Given the description of an element on the screen output the (x, y) to click on. 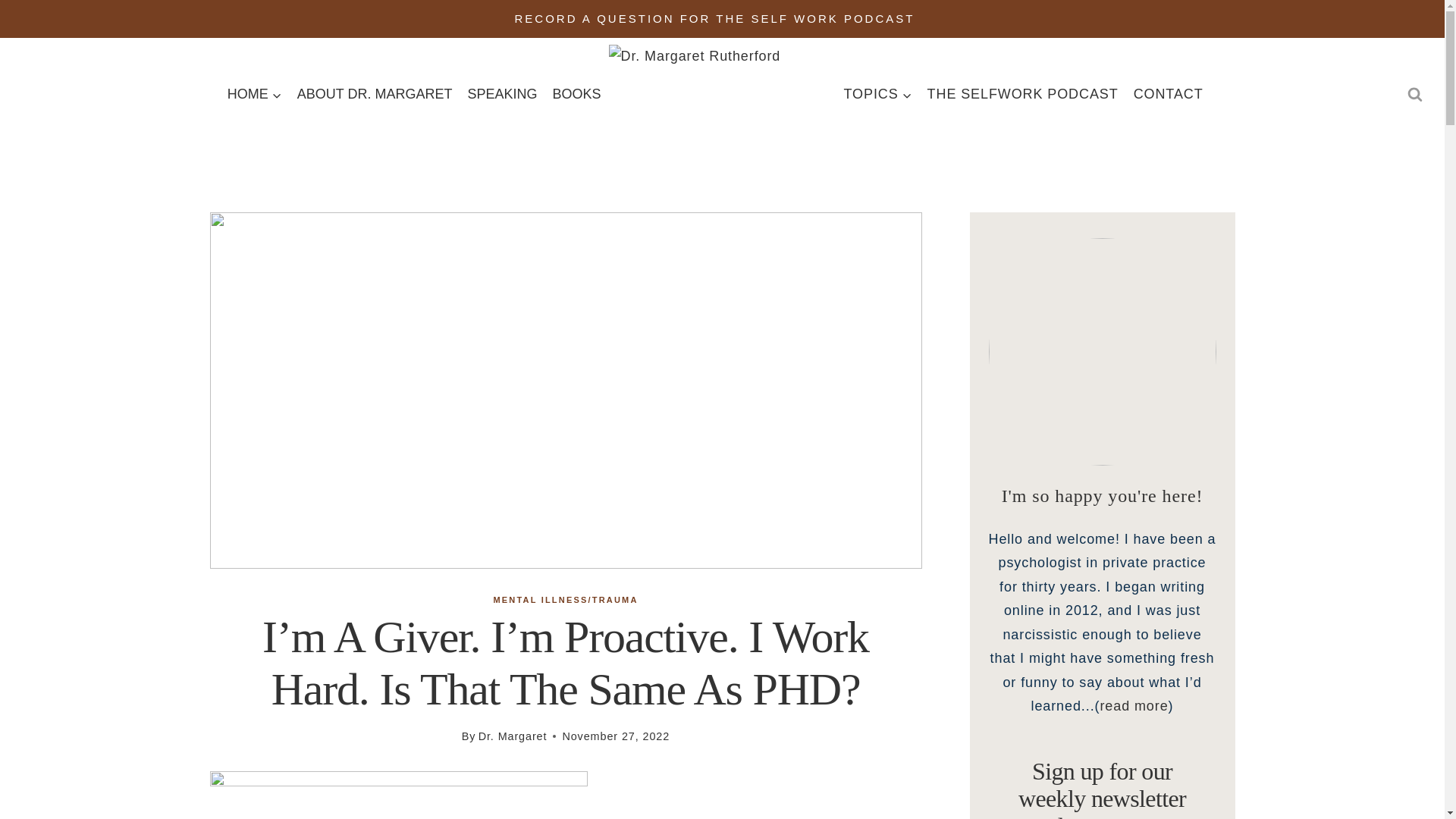
SPEAKING (502, 94)
Dr. Margaret (513, 736)
TOPICS (876, 94)
HOME (254, 94)
RECORD A QUESTION FOR THE SELF WORK PODCAST (715, 18)
BOOKS (576, 94)
THE SELFWORK PODCAST (1022, 94)
CONTACT (1168, 94)
ABOUT DR. MARGARET (374, 94)
